Given the description of an element on the screen output the (x, y) to click on. 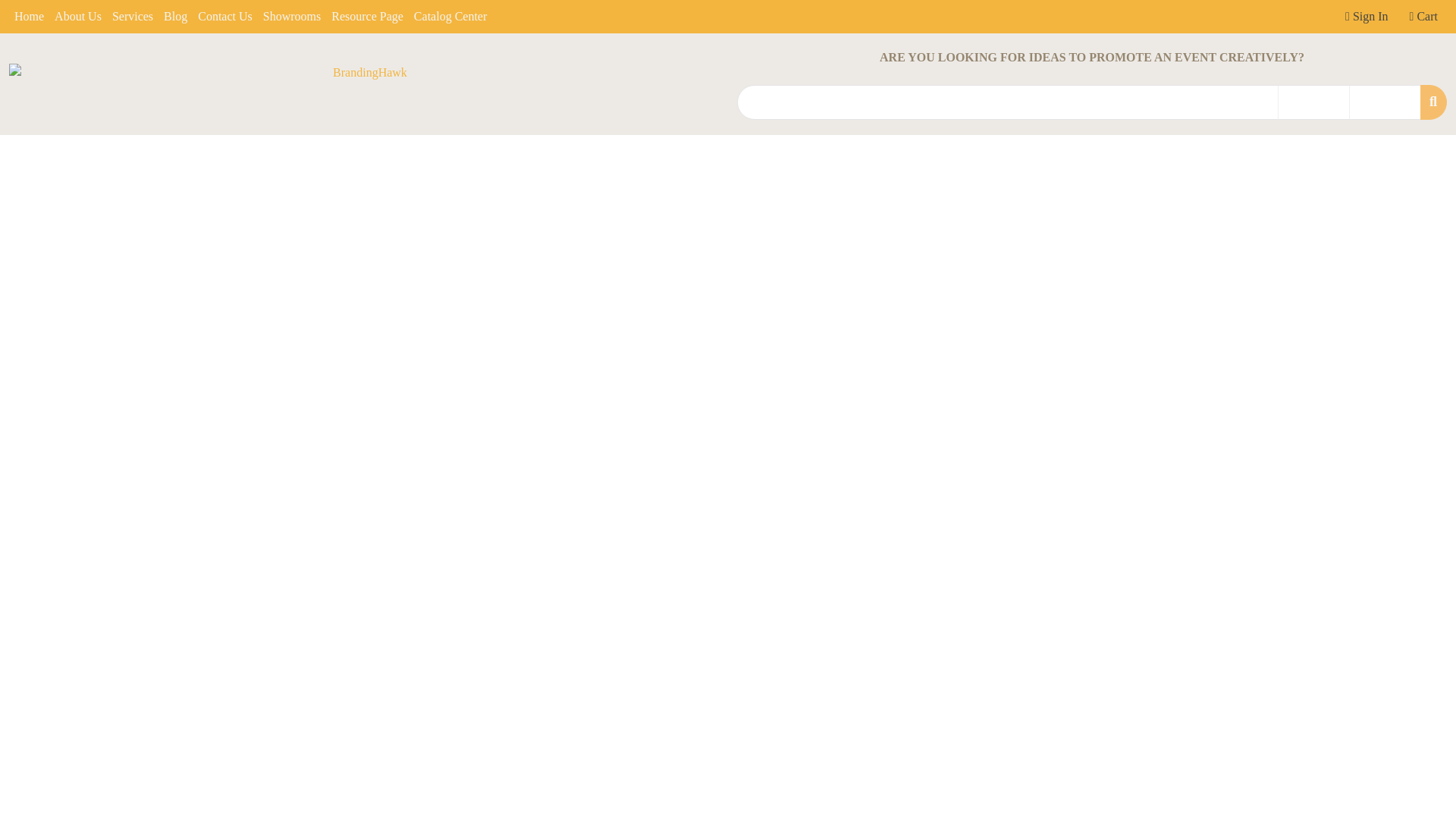
Blog (175, 16)
Catalog Center (450, 16)
Home (28, 16)
About Us (77, 16)
Services (132, 16)
Showrooms (291, 16)
Contact Us (224, 16)
Sign In (1366, 16)
Cart (1423, 16)
Resource Page (367, 16)
